Given the description of an element on the screen output the (x, y) to click on. 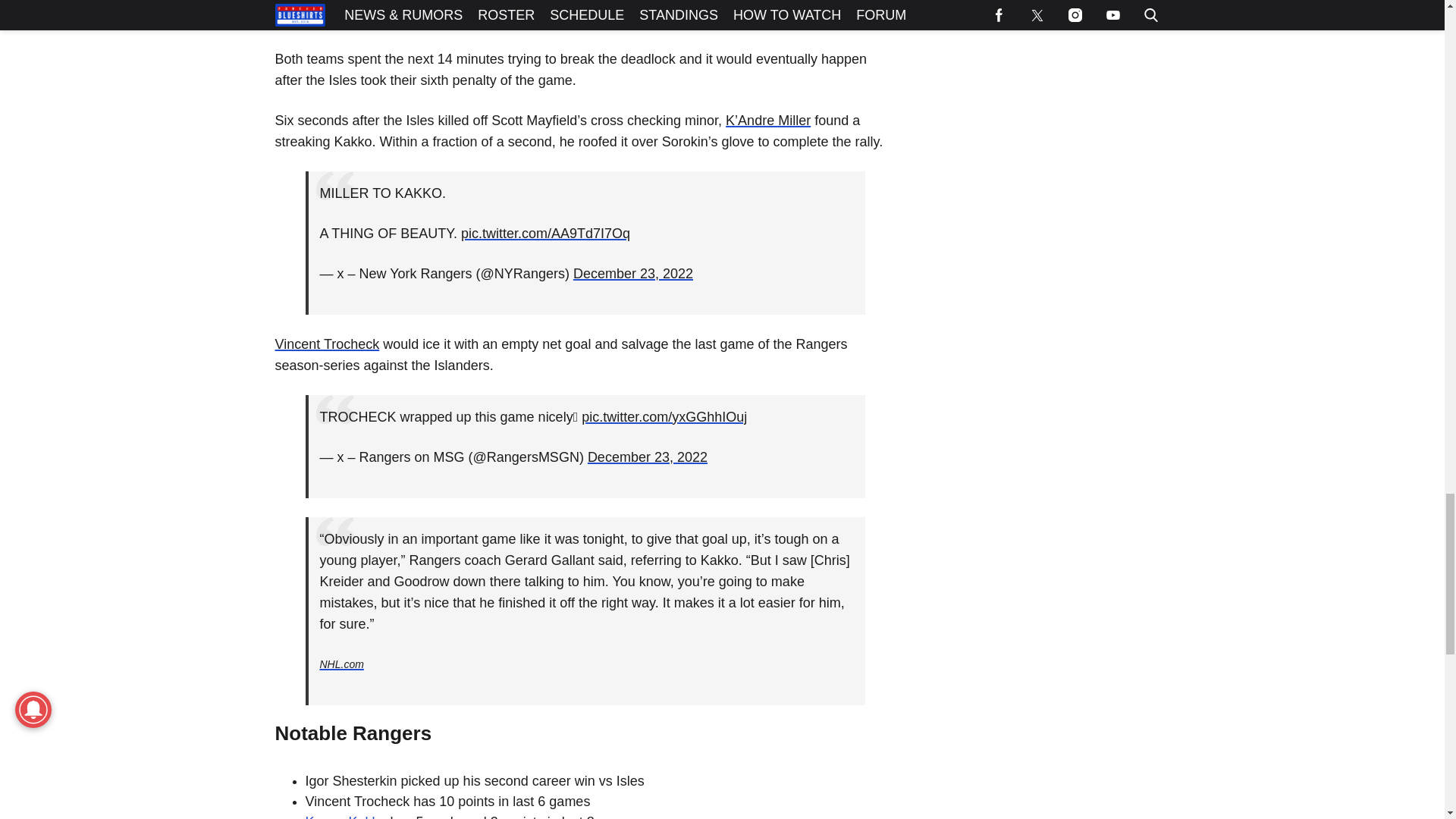
Kaapo Kakko (344, 816)
Vincent Trocheck (326, 344)
December 23, 2022 (633, 273)
Vincent Trocheck (326, 344)
December 23, 2022 (647, 457)
NHL.com (342, 664)
Kaapo Kakko (344, 816)
K'Andre Miller (767, 120)
